Given the description of an element on the screen output the (x, y) to click on. 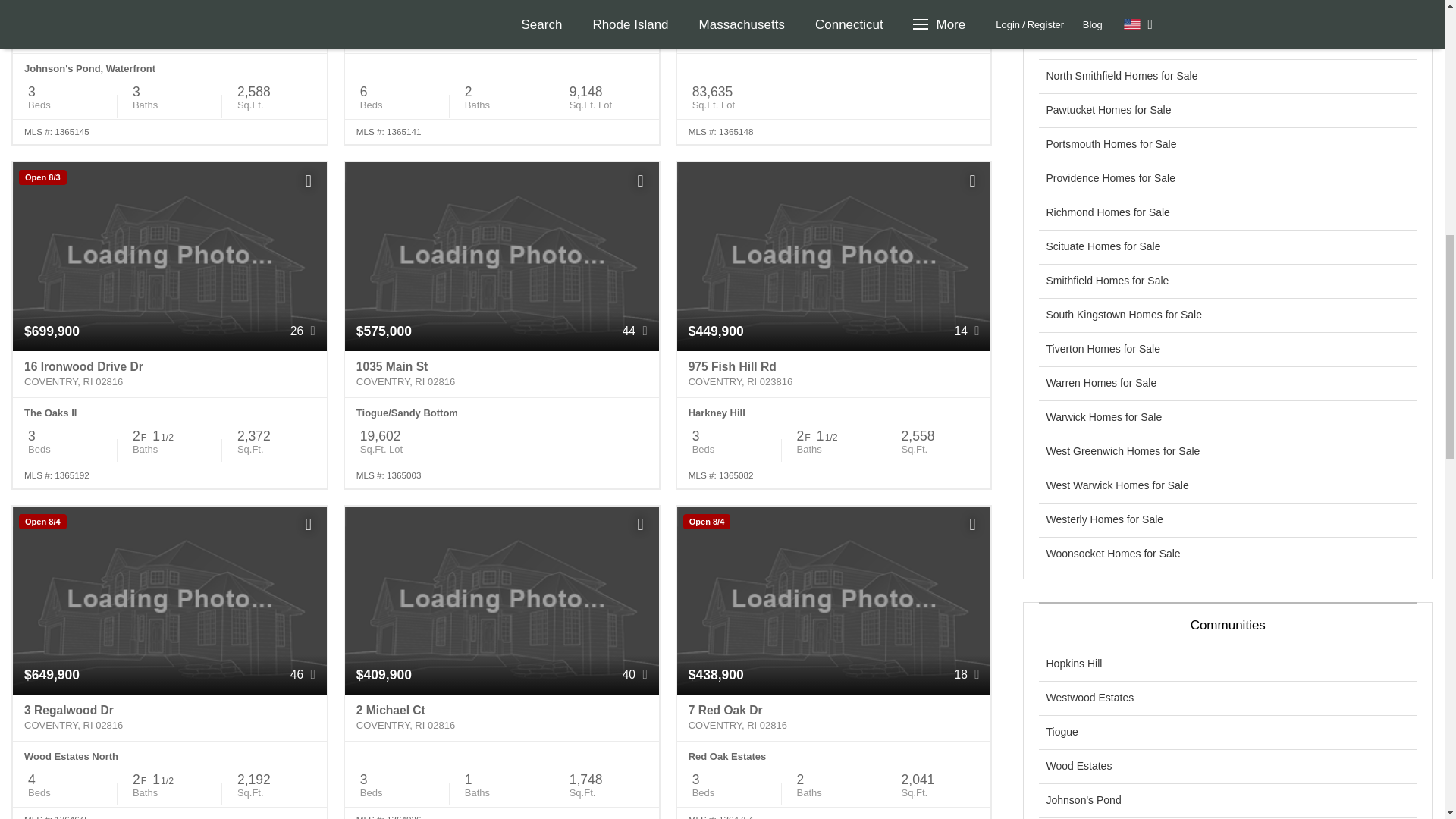
975 Fish Hill Rd Coventry,  RI 023816 (834, 374)
1035 Main St Coventry,  RI 02816 (502, 374)
16 Ironwood Drive Dr Coventry,  RI 02816 (169, 374)
1 Hill St Coventry,  RI 02816 (502, 30)
3 Regalwood Dr Coventry,  RI 02816 (169, 718)
142 Vine St Coventry,  RI 02816 (834, 30)
412 Shady Valley Rd Coventry,  RI 02816 (169, 30)
